Given the description of an element on the screen output the (x, y) to click on. 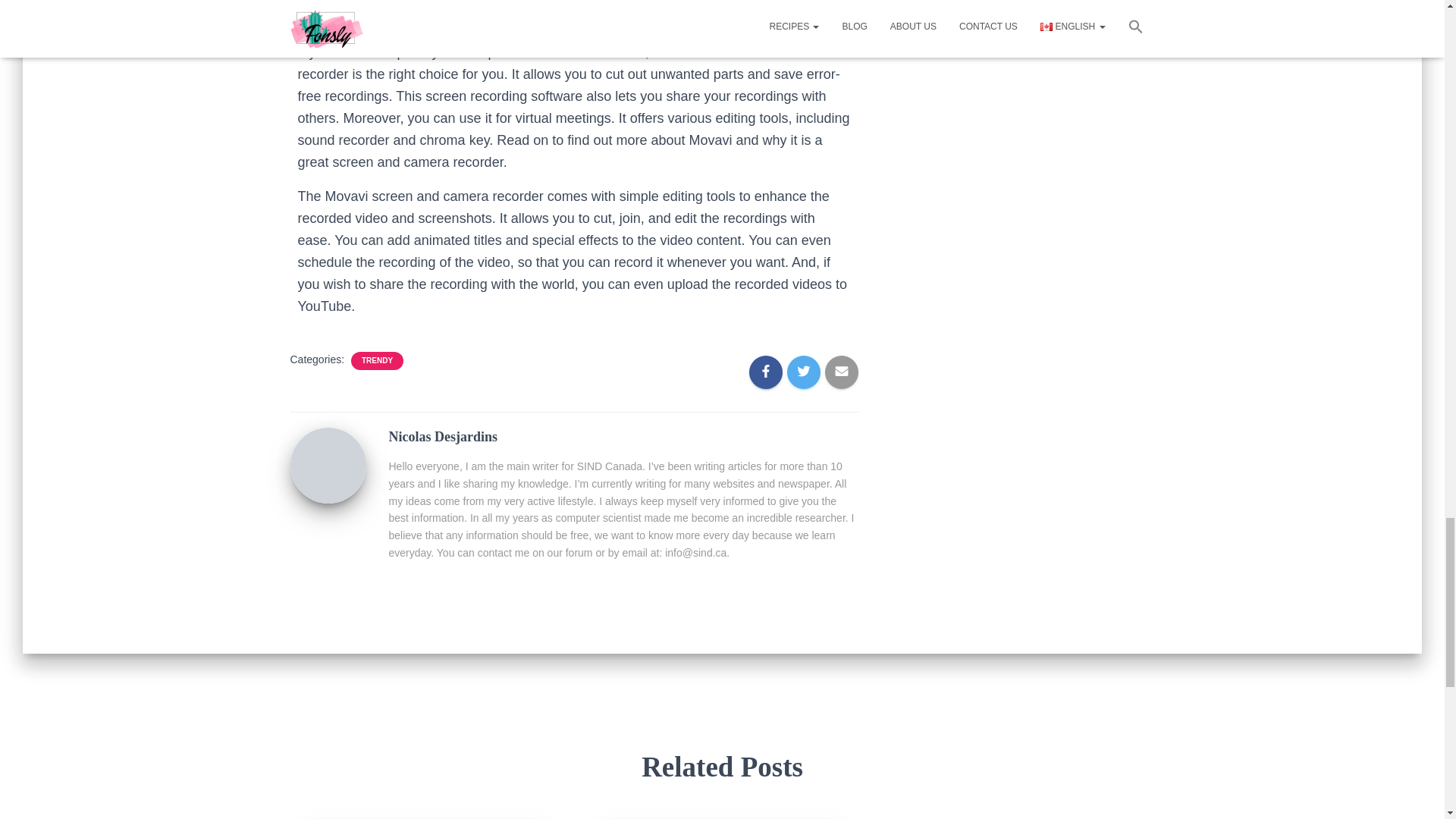
TRENDY (376, 360)
